Given the description of an element on the screen output the (x, y) to click on. 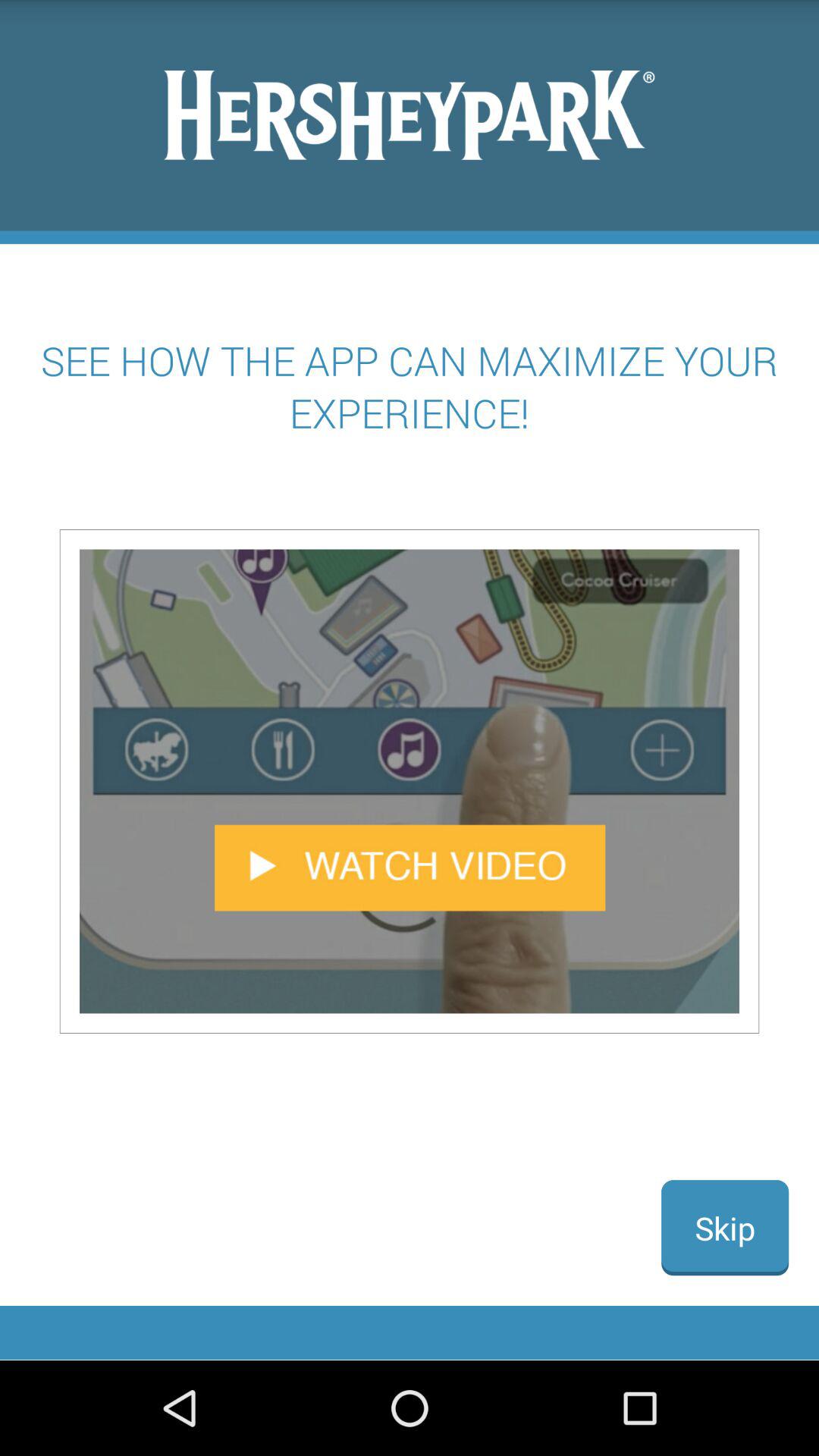
play video (409, 781)
